Given the description of an element on the screen output the (x, y) to click on. 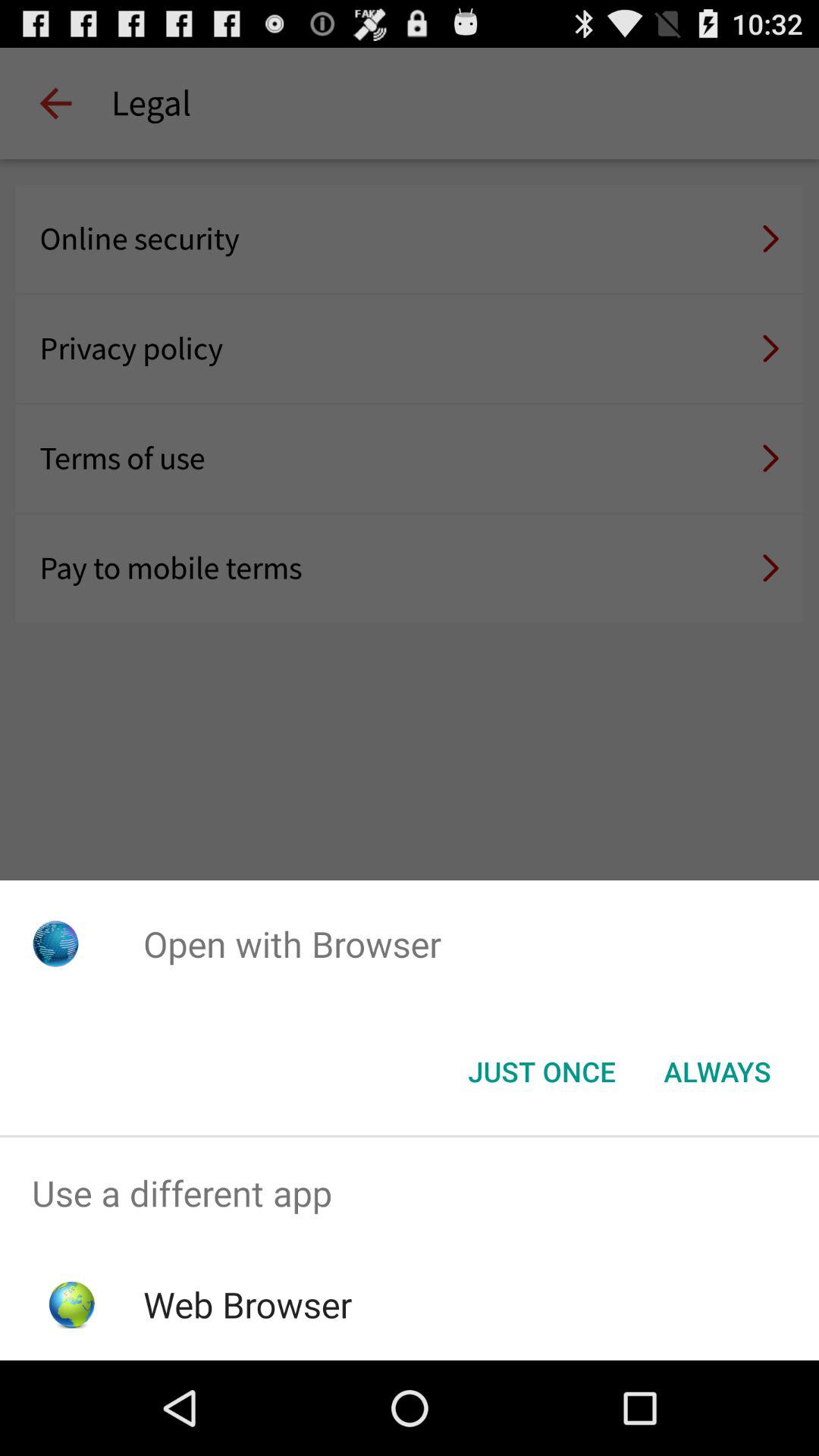
click use a different icon (409, 1192)
